Given the description of an element on the screen output the (x, y) to click on. 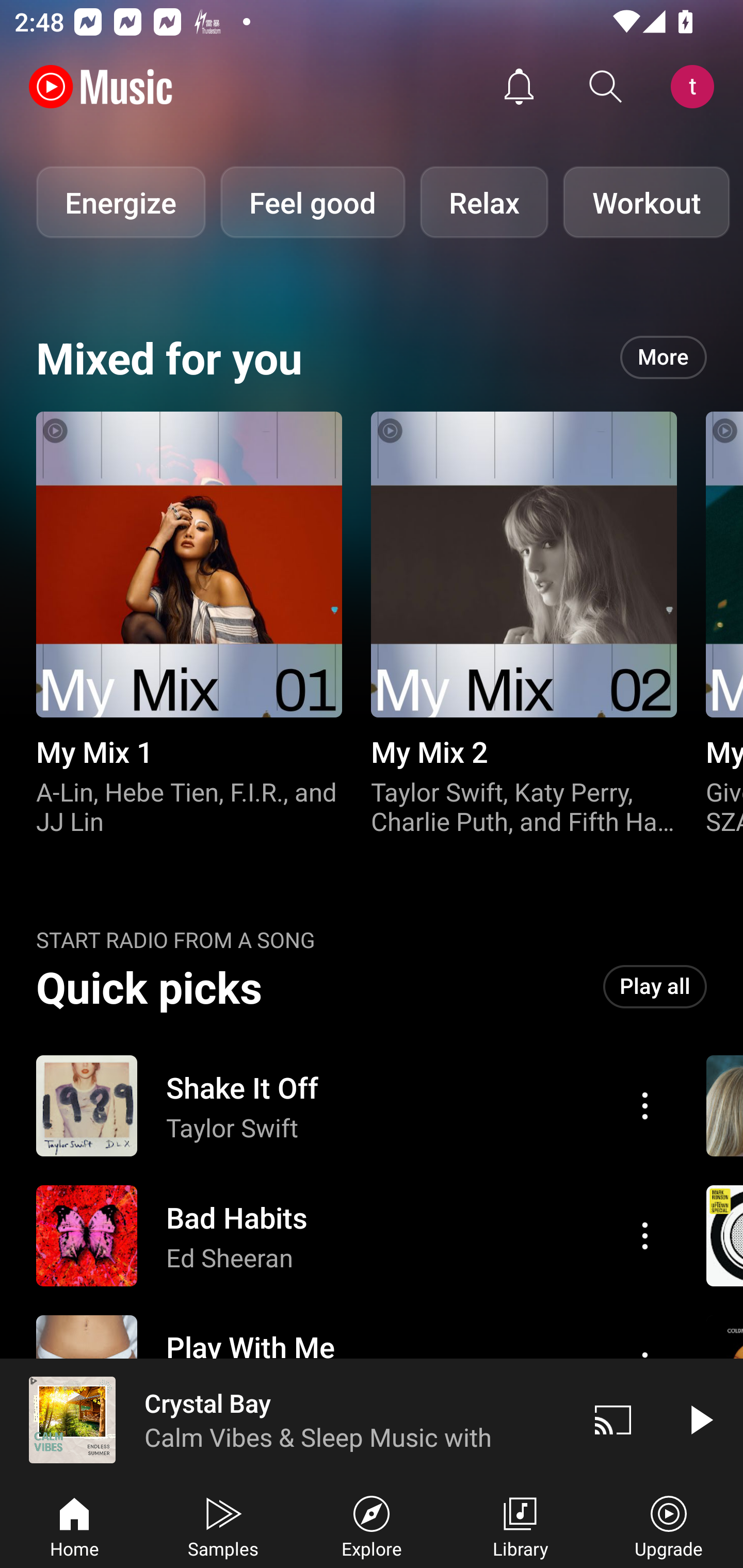
Activity feed (518, 86)
Search (605, 86)
Account (696, 86)
Action menu (349, 1106)
Action menu (644, 1106)
Action menu (349, 1236)
Action menu (644, 1235)
Cast. Disconnected (612, 1419)
Play video (699, 1419)
Home (74, 1524)
Samples (222, 1524)
Explore (371, 1524)
Library (519, 1524)
Upgrade (668, 1524)
